Given the description of an element on the screen output the (x, y) to click on. 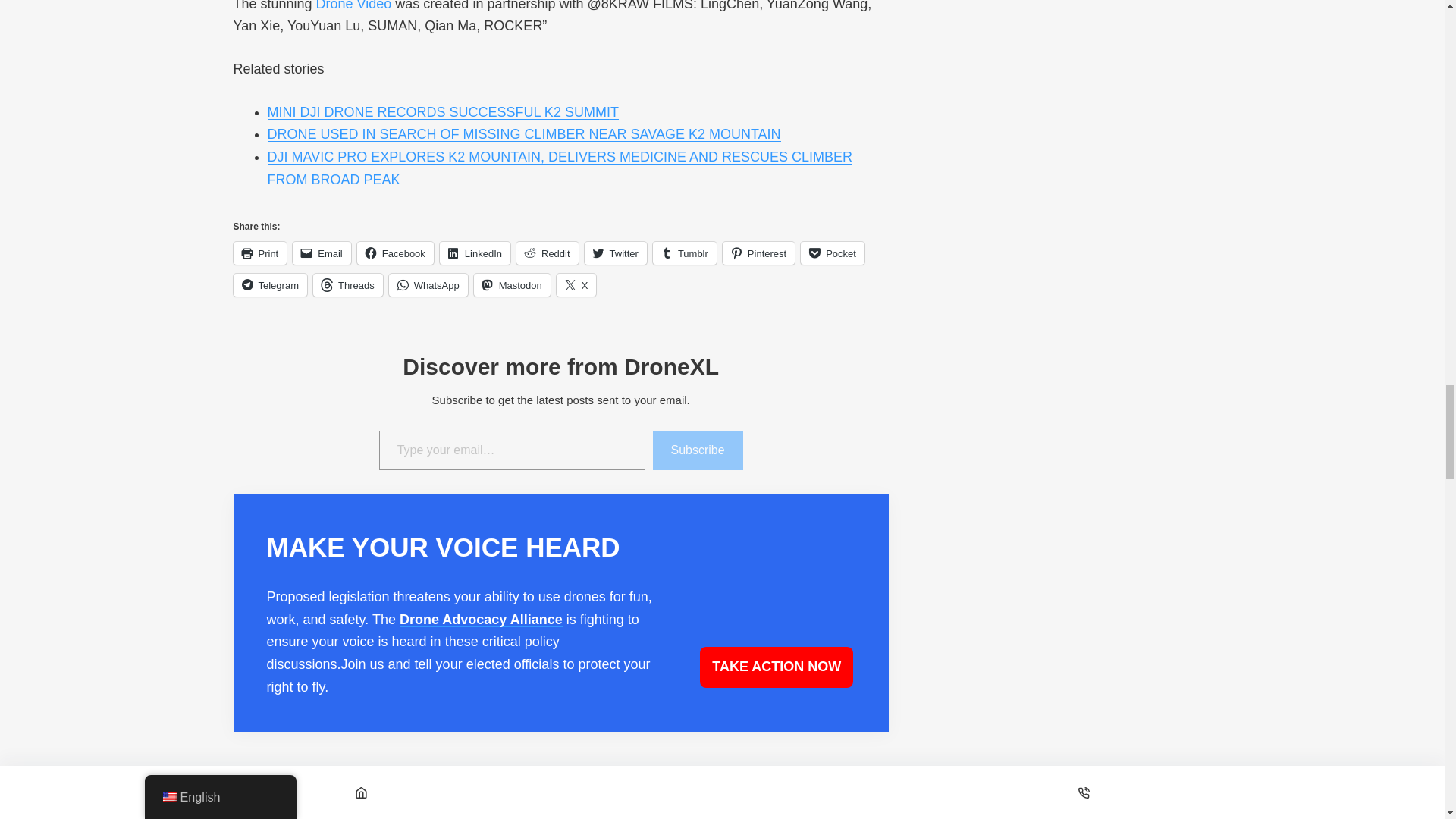
Click to print (259, 252)
Posts in the category Drone Video (353, 5)
Click to email a link to a friend (321, 252)
